Given the description of an element on the screen output the (x, y) to click on. 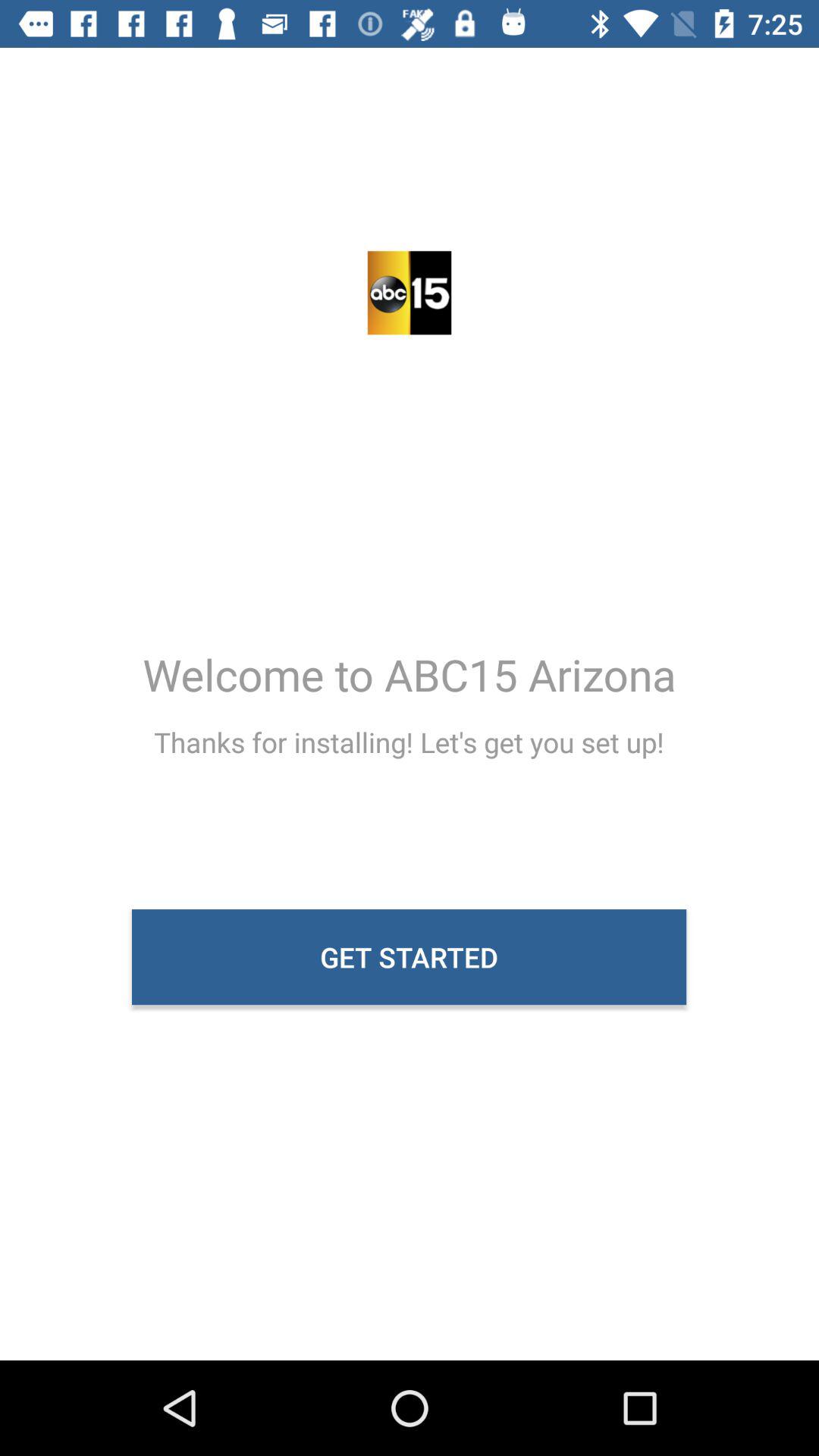
choose the get started (408, 956)
